Given the description of an element on the screen output the (x, y) to click on. 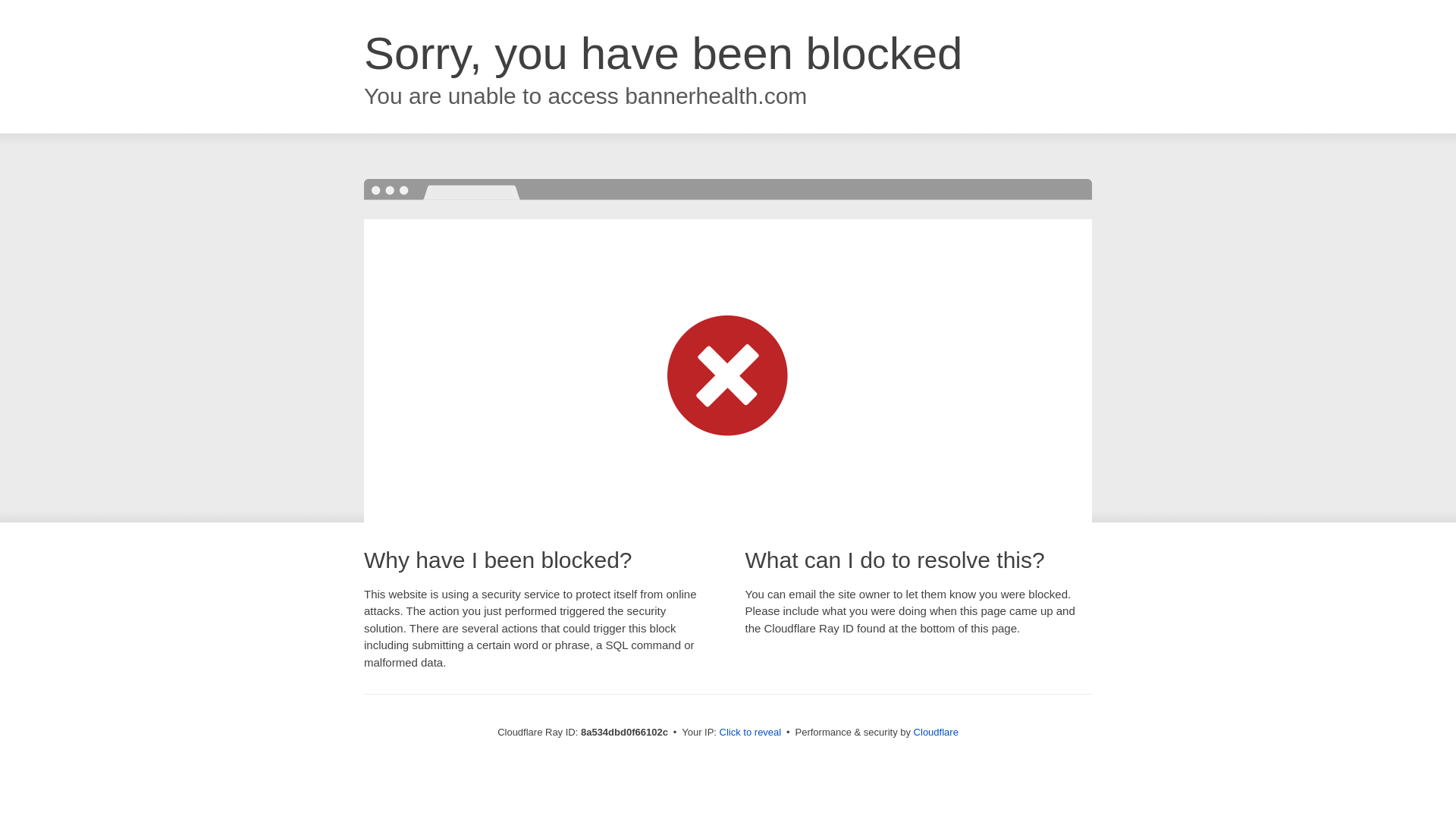
Click to reveal (750, 732)
Cloudflare (936, 731)
